Given the description of an element on the screen output the (x, y) to click on. 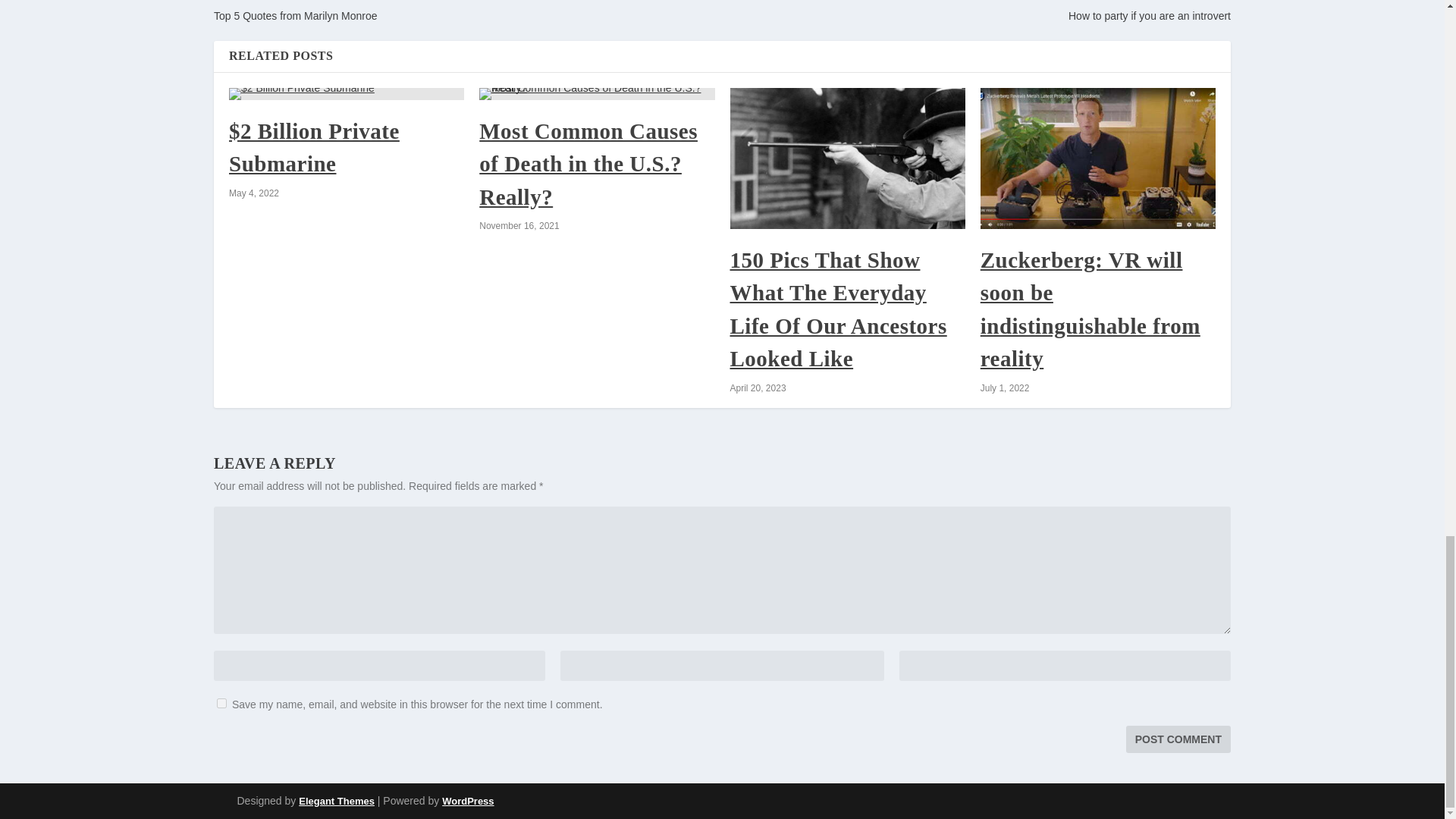
Most Common Causes of Death in the U.S.? Really? (596, 93)
Premium WordPress Themes (336, 800)
Post Comment (1177, 738)
WordPress (467, 800)
Elegant Themes (336, 800)
Post Comment (1177, 738)
Zuckerberg: VR will soon be indistinguishable from reality (1097, 158)
Zuckerberg: VR will soon be indistinguishable from reality (1089, 309)
Most Common Causes of Death in the U.S.? Really? (588, 163)
yes (221, 703)
